Given the description of an element on the screen output the (x, y) to click on. 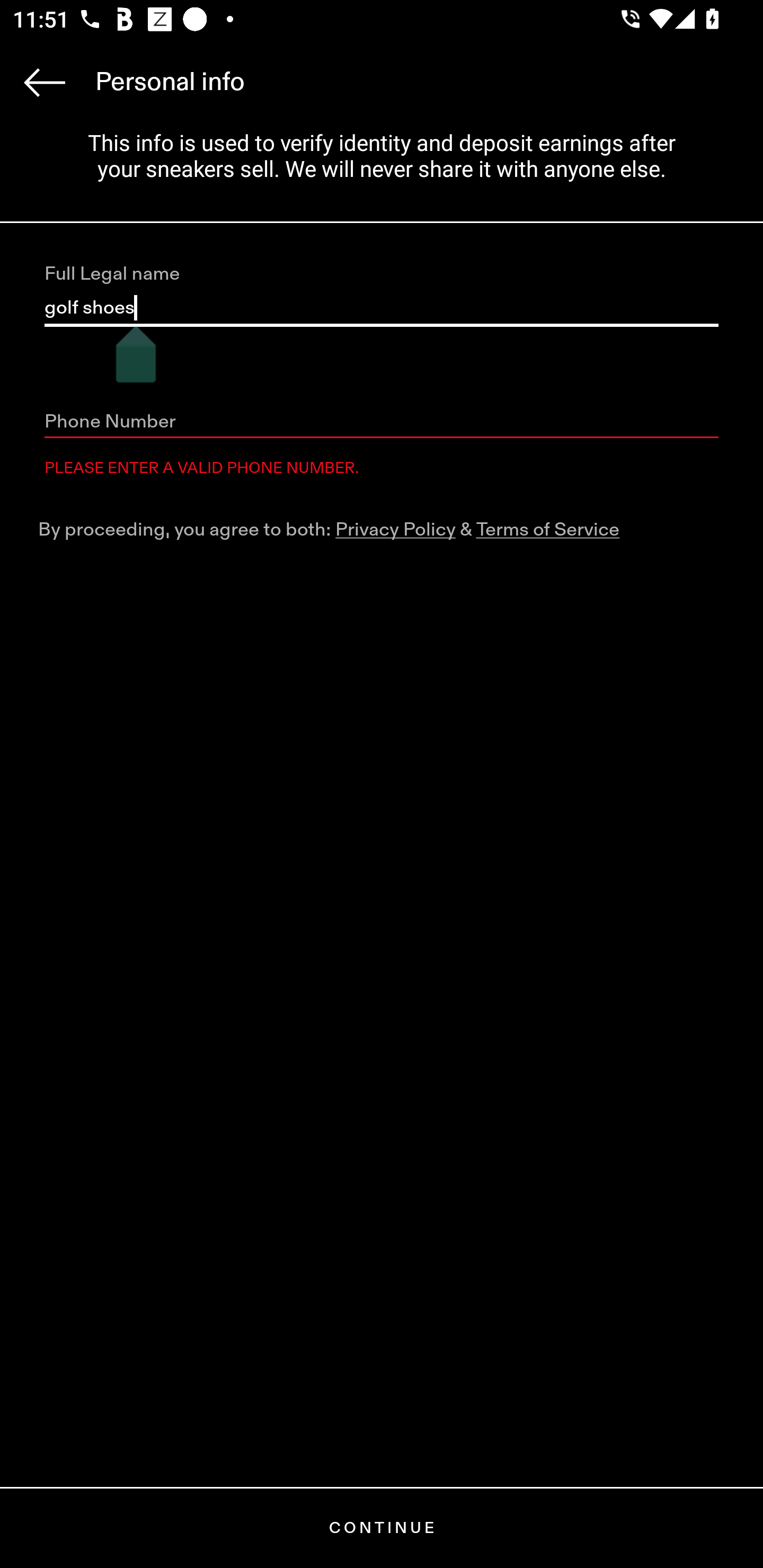
Navigate up (44, 82)
golf shoes (381, 308)
Phone Number (381, 422)
CONTINUE (381, 1528)
